Given the description of an element on the screen output the (x, y) to click on. 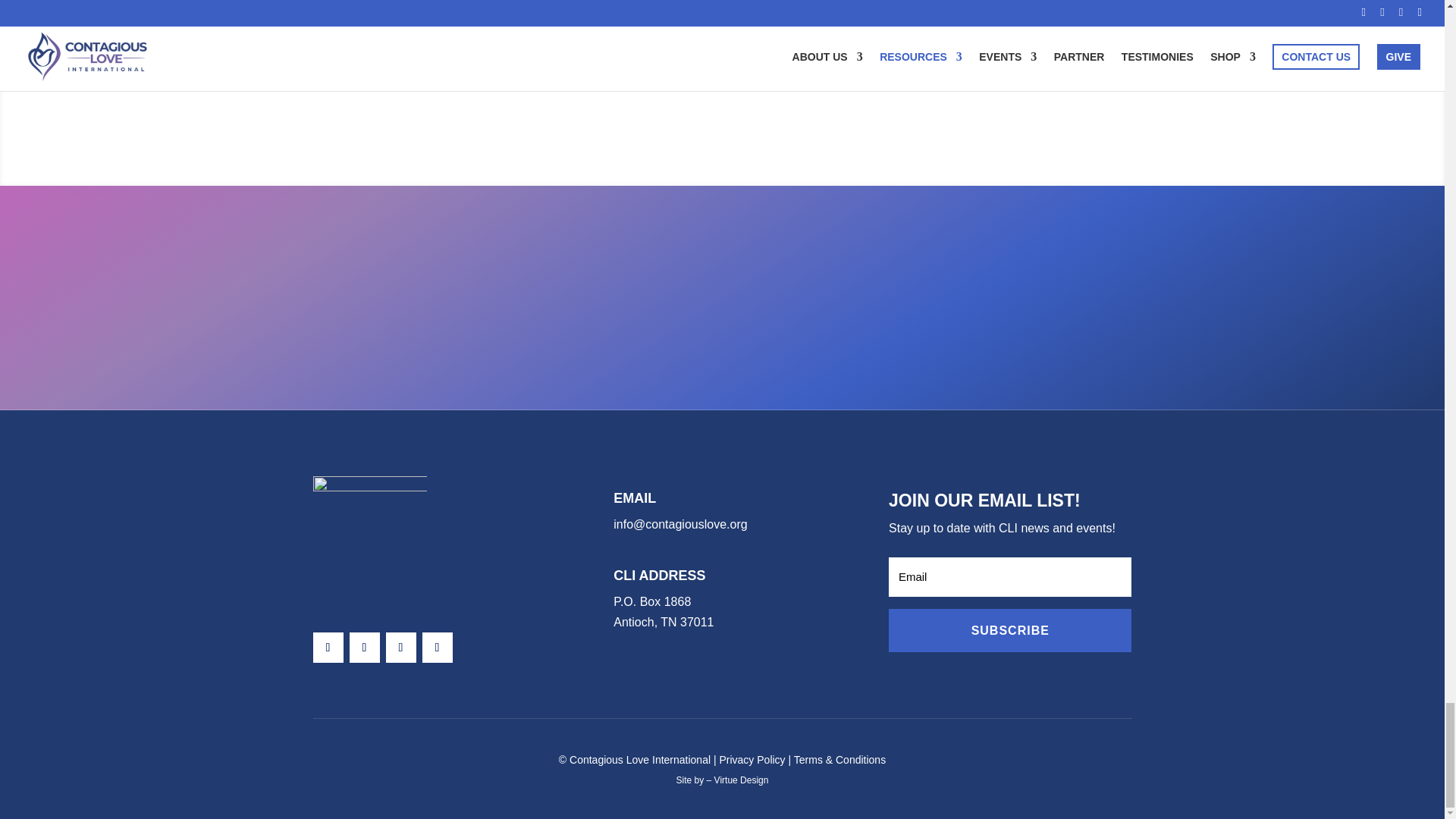
Follow on TikTok (436, 647)
Follow on Instagram (327, 647)
Follow on Facebook (363, 647)
Follow on Youtube (399, 647)
